Given the description of an element on the screen output the (x, y) to click on. 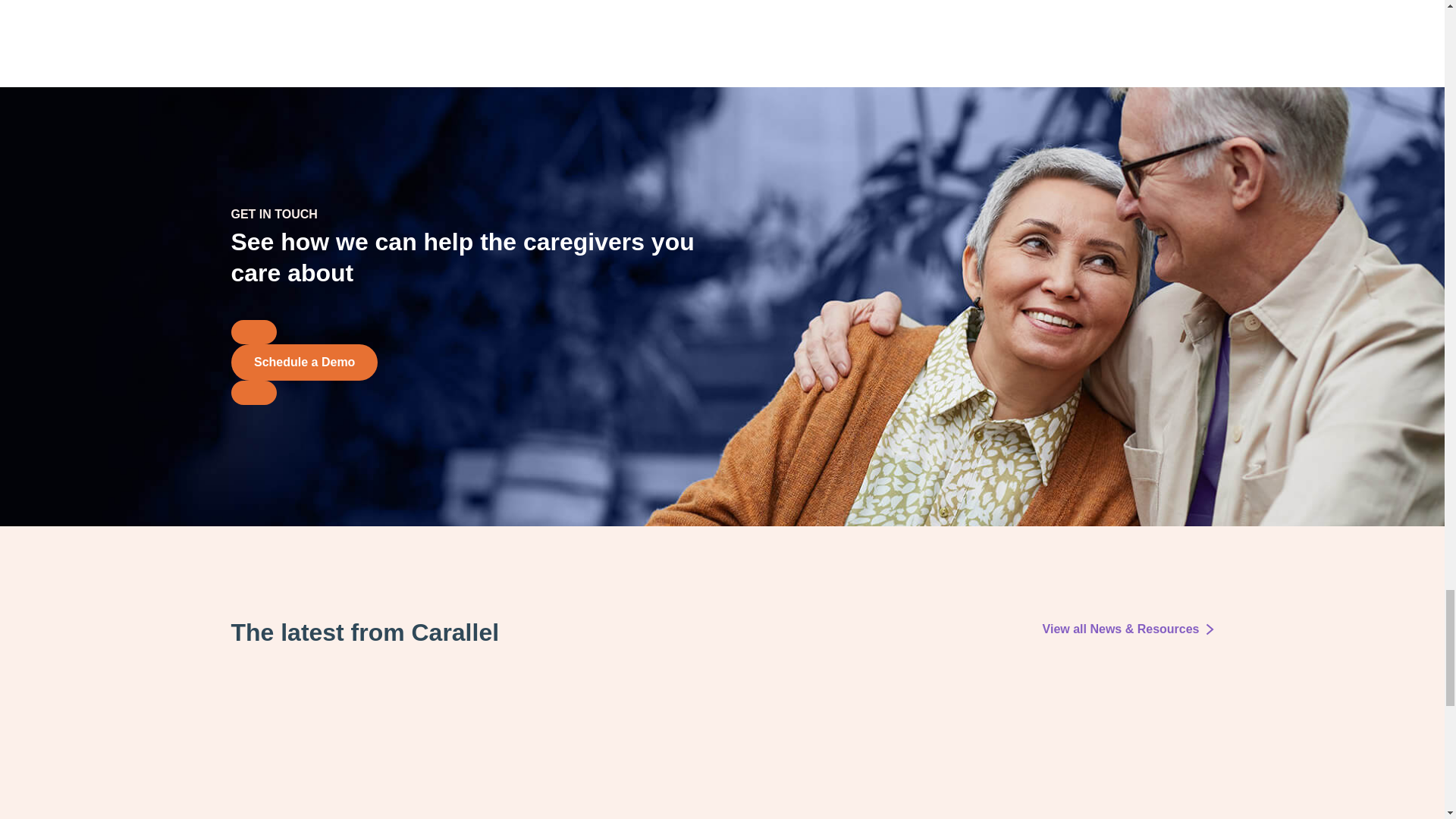
Schedule a Demo (253, 331)
Schedule a Demo (303, 361)
Schedule a Demo (253, 392)
